Given the description of an element on the screen output the (x, y) to click on. 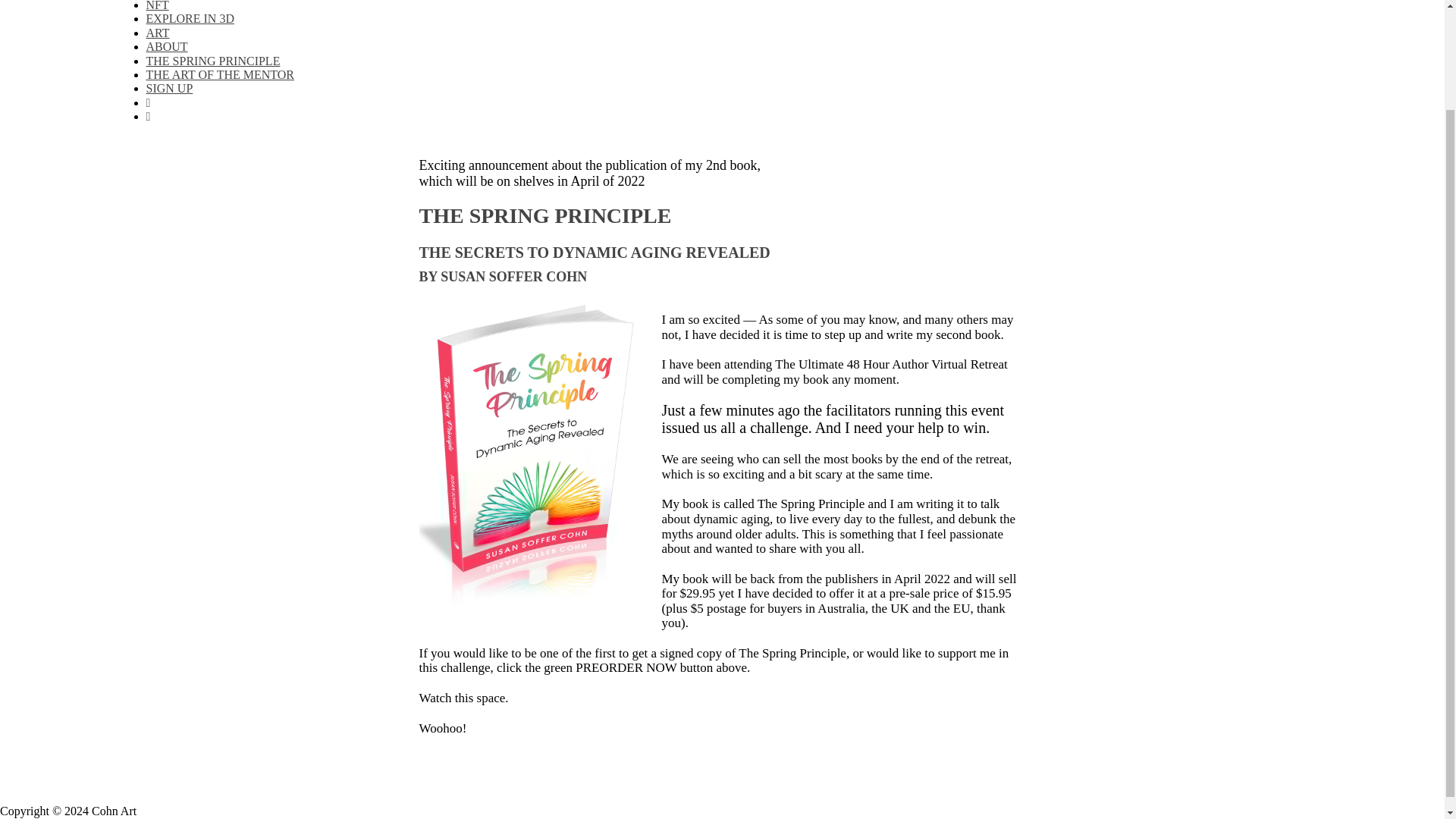
EXPLORE IN 3D (188, 18)
NFT (156, 5)
SIGN UP (168, 88)
THE SPRING PRINCIPLE (212, 60)
ABOUT (166, 46)
ART (156, 32)
THE ART OF THE MENTOR (219, 74)
